Given the description of an element on the screen output the (x, y) to click on. 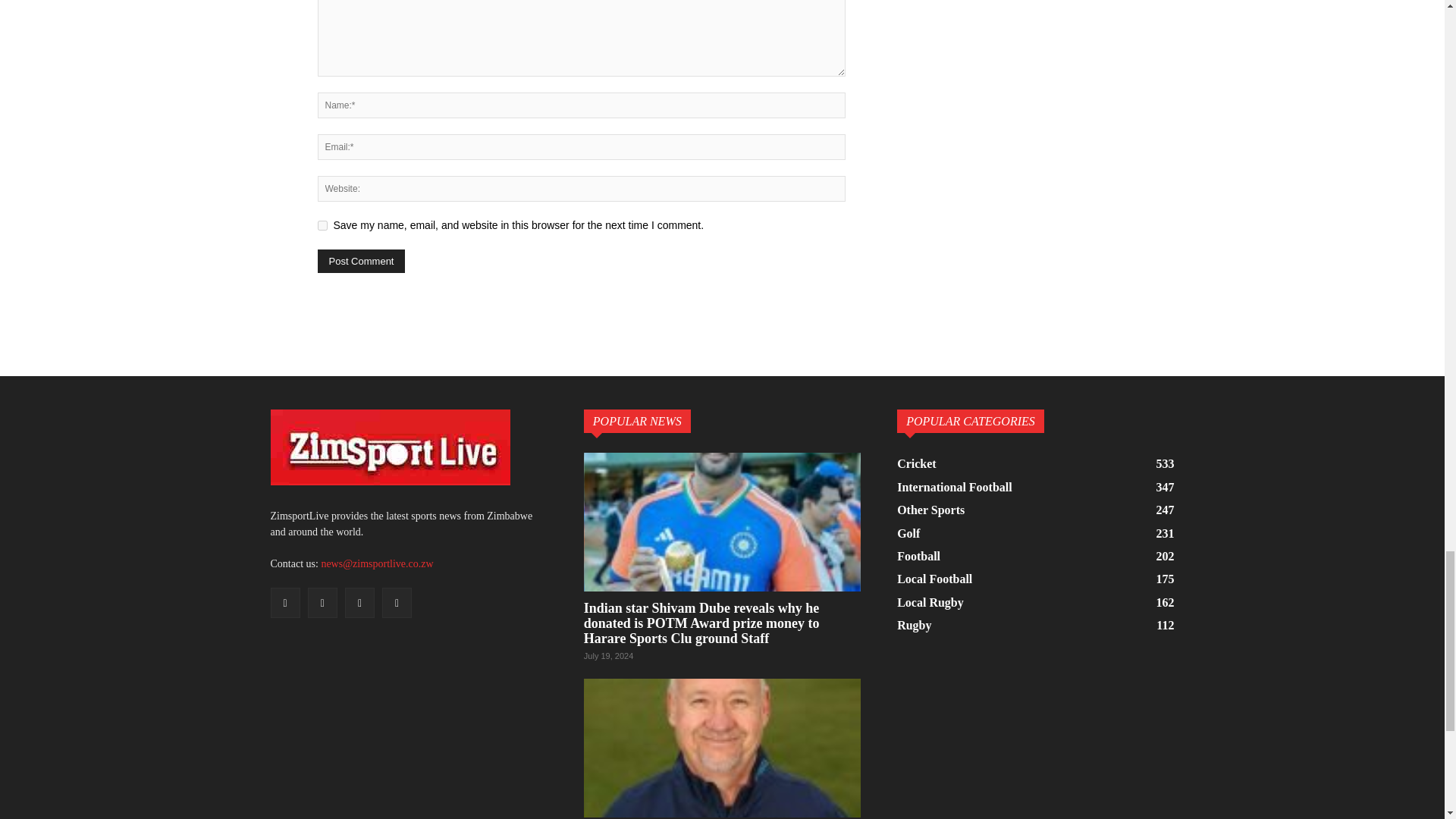
Post Comment (360, 260)
yes (321, 225)
